Given the description of an element on the screen output the (x, y) to click on. 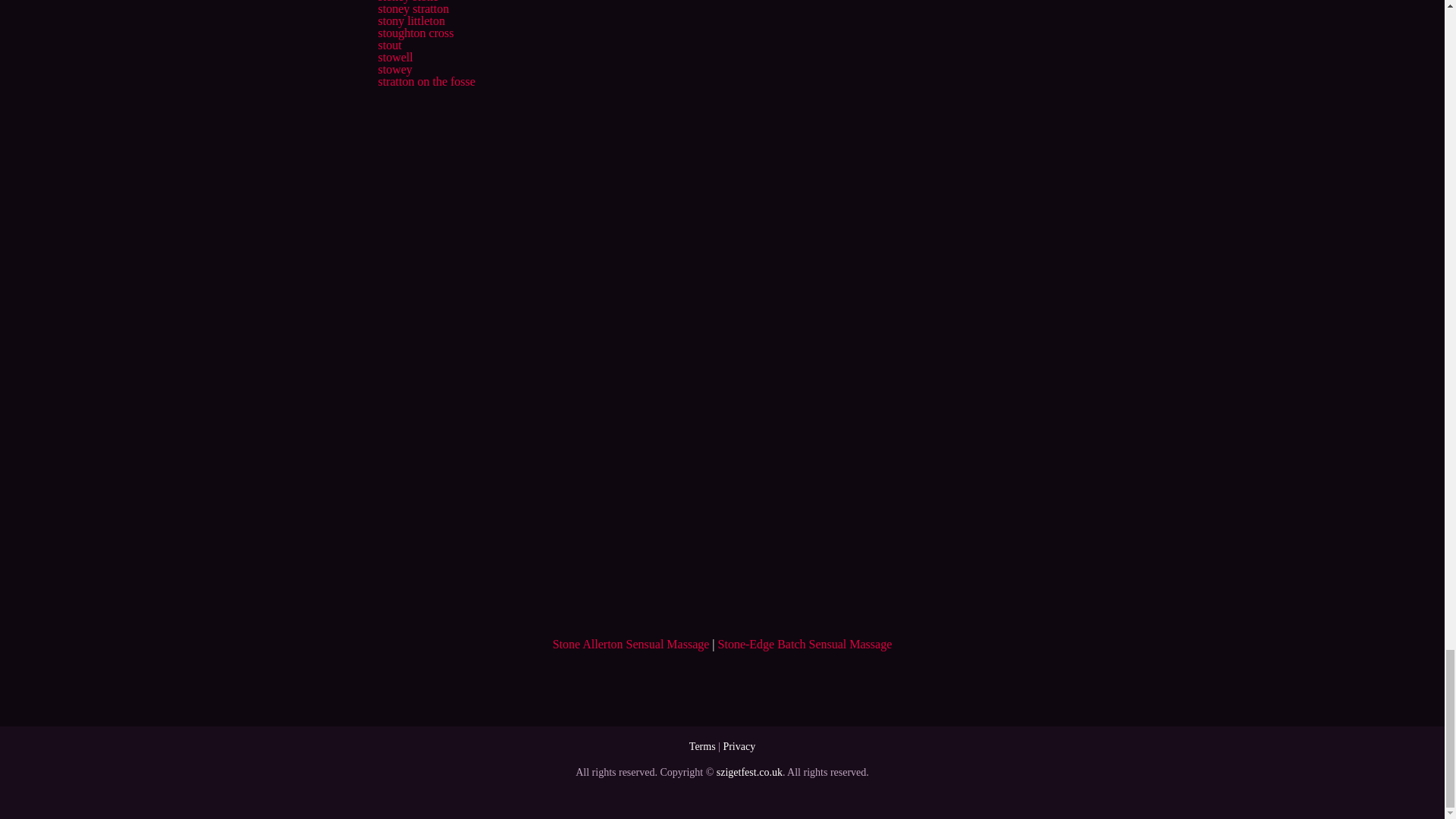
stoney stoke (407, 1)
Stone Allerton Sensual Massage (631, 644)
Privacy (738, 746)
stratton on the fosse (425, 81)
stoughton cross (414, 32)
Stone-Edge Batch Sensual Massage (804, 644)
Privacy (738, 746)
stony littleton (410, 20)
stowey (394, 69)
szigetfest.co.uk (749, 772)
